Given the description of an element on the screen output the (x, y) to click on. 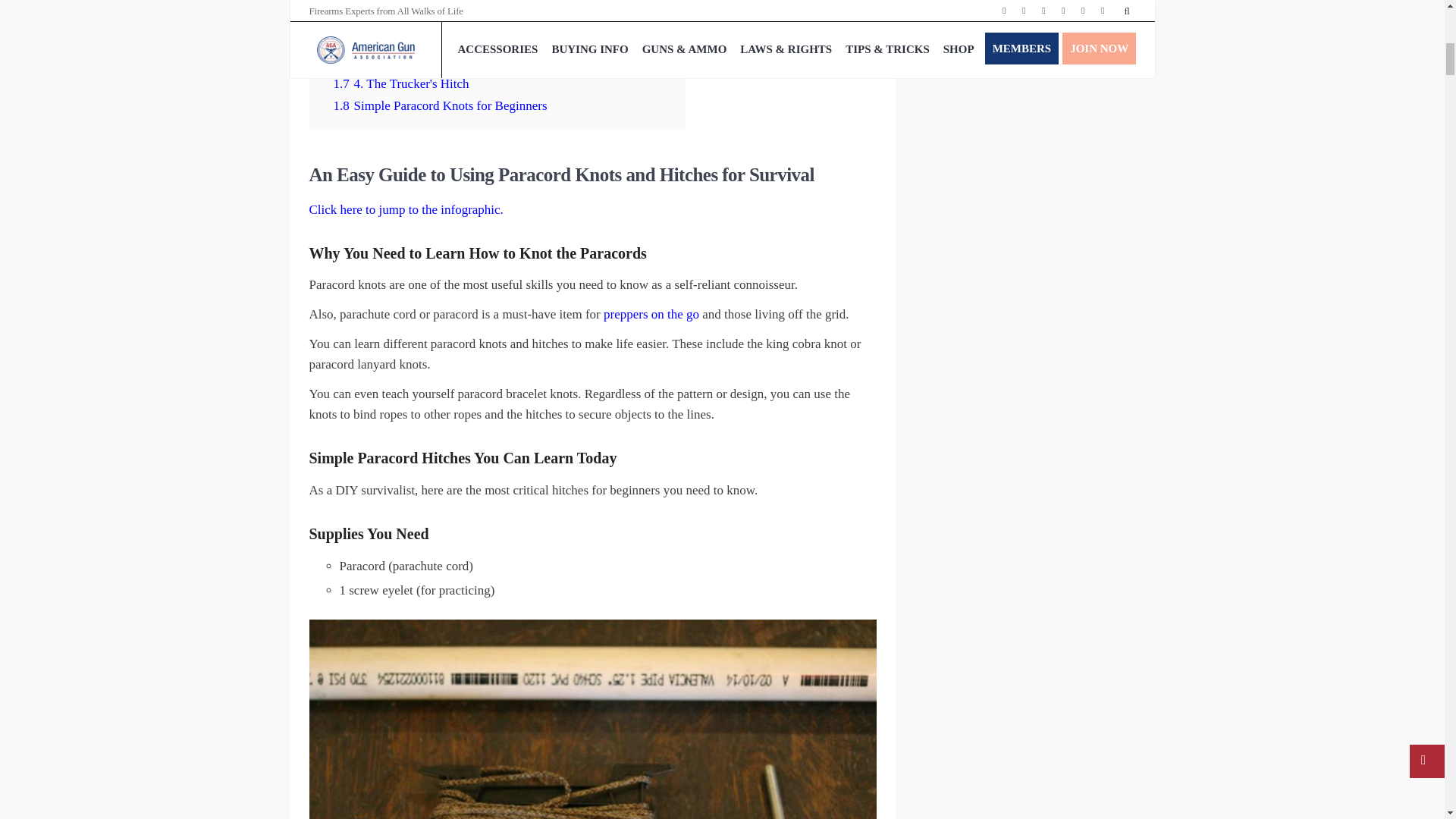
1.5 2. The Tautline Hitch (398, 39)
1.7 4. The Trucker's Hitch (400, 83)
1.6 3. The Slippery Hitch (399, 61)
Click here to jump to the infographic. (405, 209)
1.4 1. Two Half-Hitches (396, 17)
1.8 Simple Paracord Knots for Beginners (440, 105)
preppers on the go (651, 314)
1.3 Supplies You Need (392, 1)
